Given the description of an element on the screen output the (x, y) to click on. 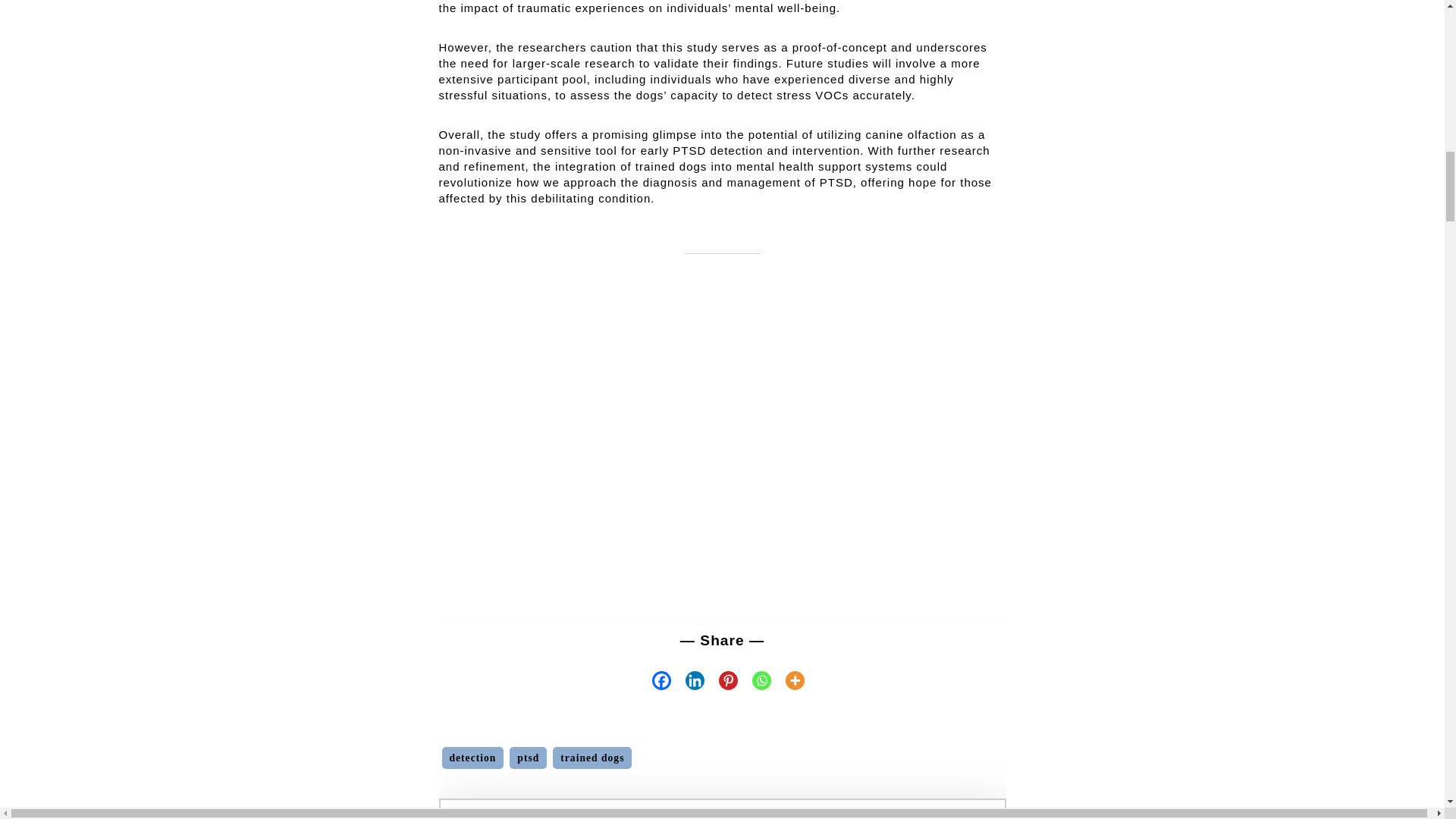
Facebook (654, 680)
Pinterest (721, 680)
Linkedin (687, 680)
